Given the description of an element on the screen output the (x, y) to click on. 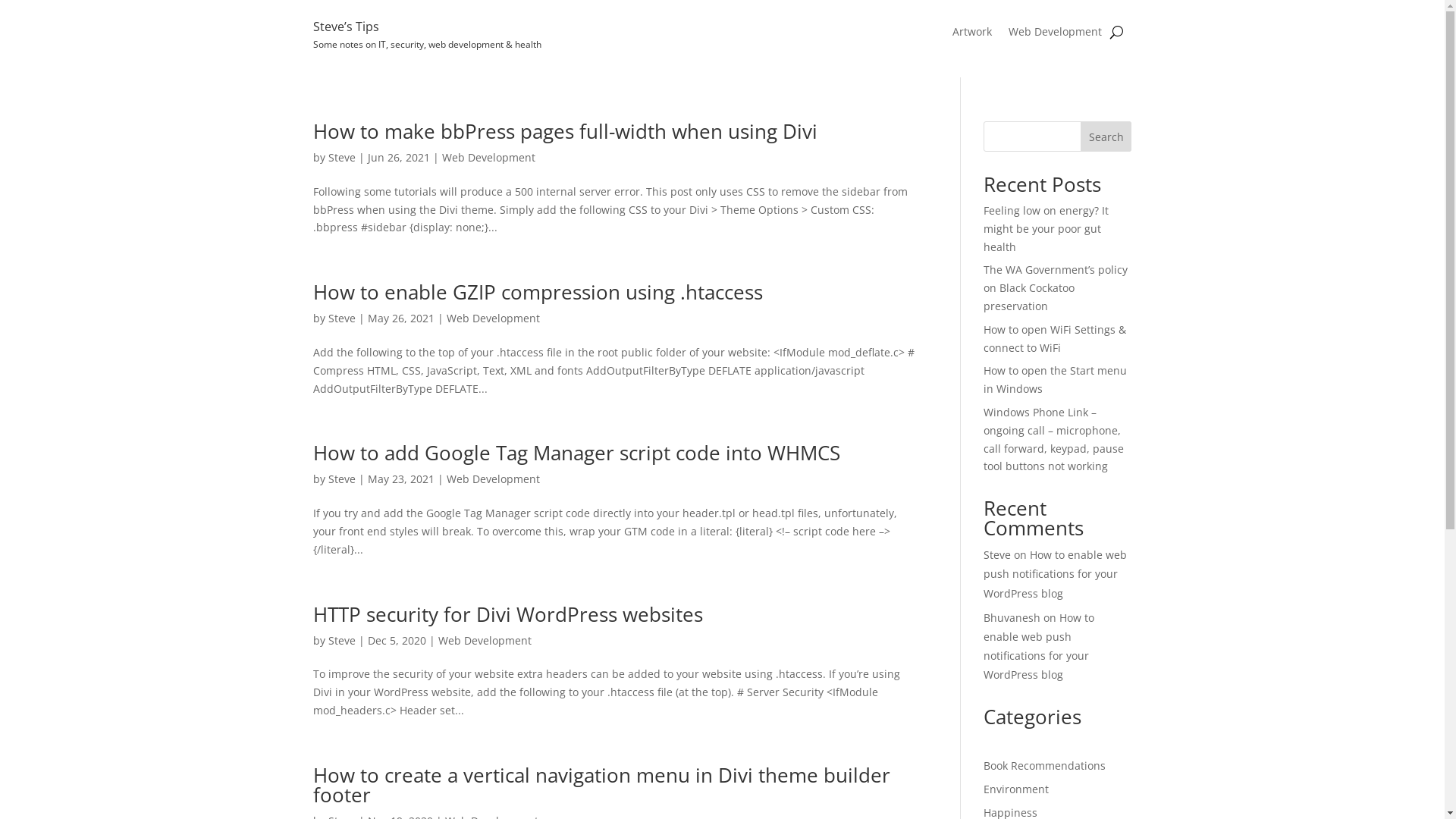
Steve Element type: text (996, 554)
Web Development Element type: text (492, 478)
How to enable web push notifications for your WordPress blog Element type: text (1054, 573)
Steve Element type: text (340, 317)
How to add Google Tag Manager script code into WHMCS Element type: text (575, 452)
Steve Element type: text (340, 478)
HTTP security for Divi WordPress websites Element type: text (507, 613)
How to make bbPress pages full-width when using Divi Element type: text (564, 130)
Steve Element type: text (340, 640)
Bhuvanesh Element type: text (1011, 617)
Environment Element type: text (1015, 788)
Search Element type: text (1106, 136)
How to open the Start menu in Windows Element type: text (1054, 379)
Artwork Element type: text (971, 34)
Web Development Element type: text (484, 640)
Web Development Element type: text (487, 157)
How to open WiFi Settings & connect to WiFi Element type: text (1054, 338)
Steve Element type: text (340, 157)
Web Development Element type: text (1054, 34)
How to enable web push notifications for your WordPress blog Element type: text (1038, 646)
Web Development Element type: text (492, 317)
How to enable GZIP compression using .htaccess Element type: text (537, 291)
Feeling low on energy? It might be your poor gut health Element type: text (1045, 228)
Book Recommendations Element type: text (1044, 765)
